Given the description of an element on the screen output the (x, y) to click on. 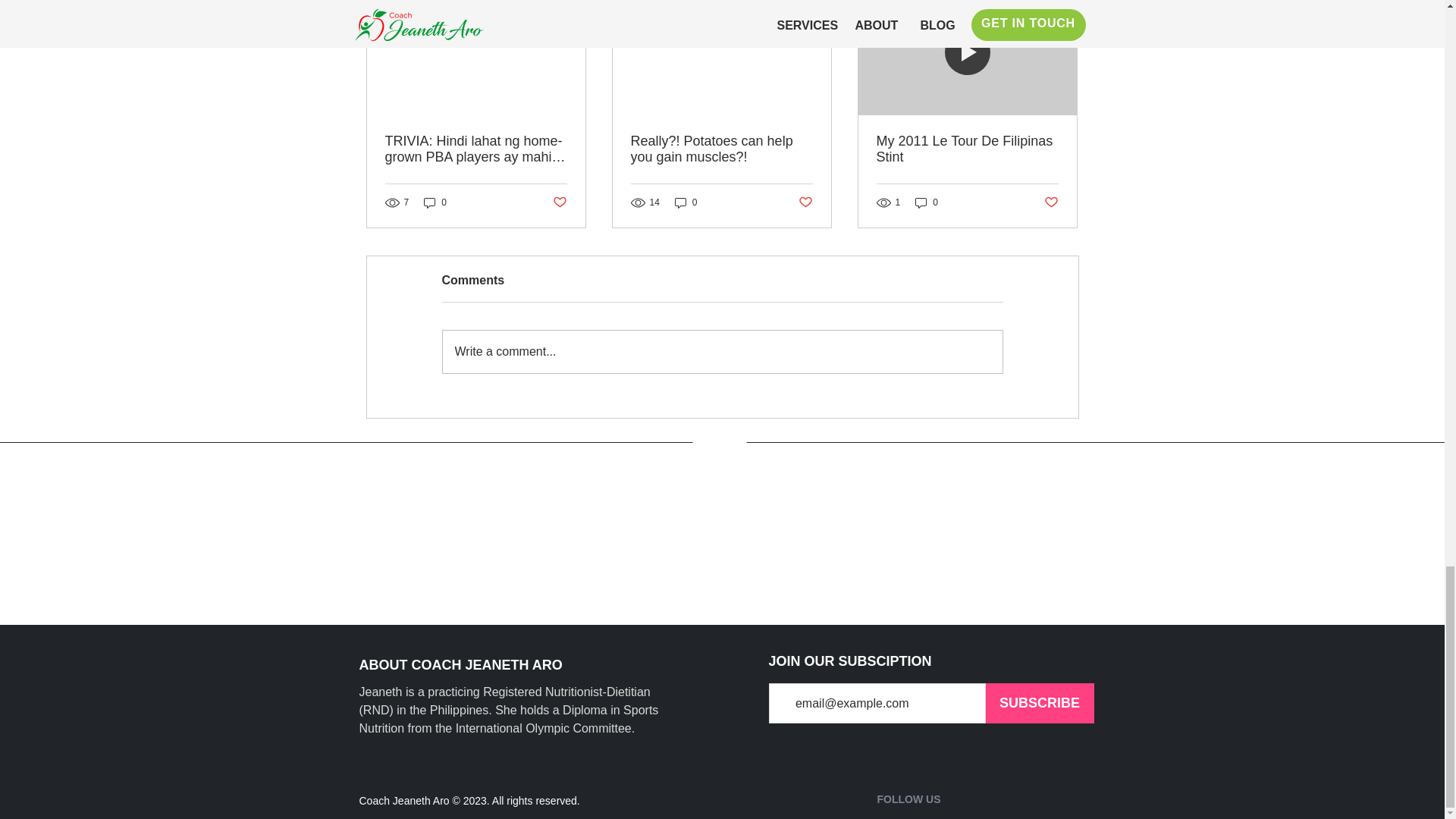
Write a comment... (722, 351)
Hindi minarkahan bilang na-like ang post (804, 202)
0 (685, 202)
0 (435, 202)
Really?! Potatoes can help you gain muscles?! (721, 149)
Hindi minarkahan bilang na-like ang post (558, 202)
SUBSCRIBE (1039, 703)
0 (926, 202)
My 2011 Le Tour De Filipinas Stint (967, 149)
Hindi minarkahan bilang na-like ang post (1050, 202)
